Given the description of an element on the screen output the (x, y) to click on. 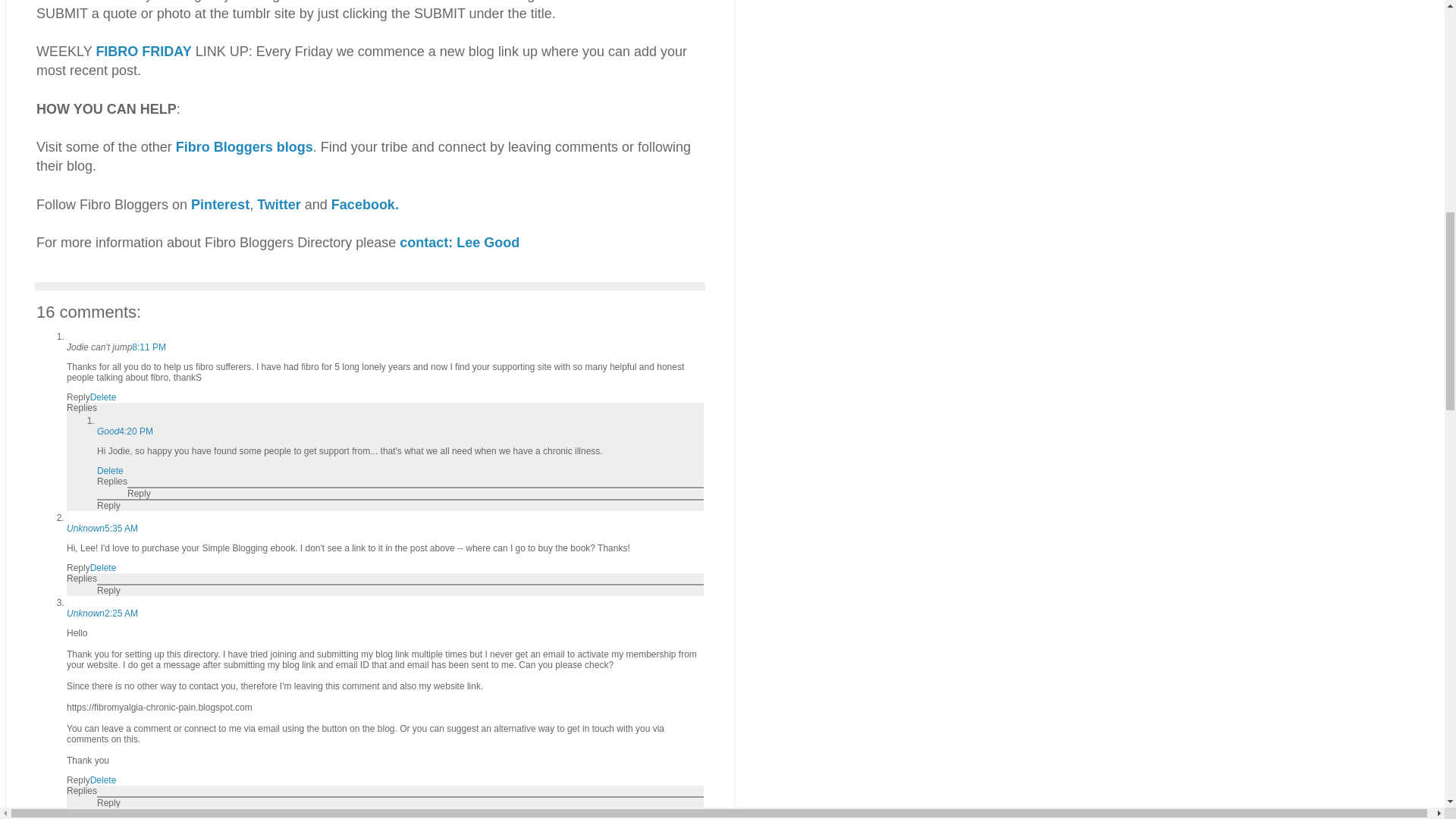
Delete (110, 470)
Twitter (279, 204)
Replies (81, 790)
Facebook. (364, 204)
Reply (78, 779)
Reply (108, 505)
Reply (108, 802)
Reply (139, 493)
contact: Lee Good (458, 242)
Reply (108, 590)
Delete (103, 779)
Good (108, 430)
8:11 PM (148, 347)
Reply (78, 567)
4:20 PM (135, 430)
